Given the description of an element on the screen output the (x, y) to click on. 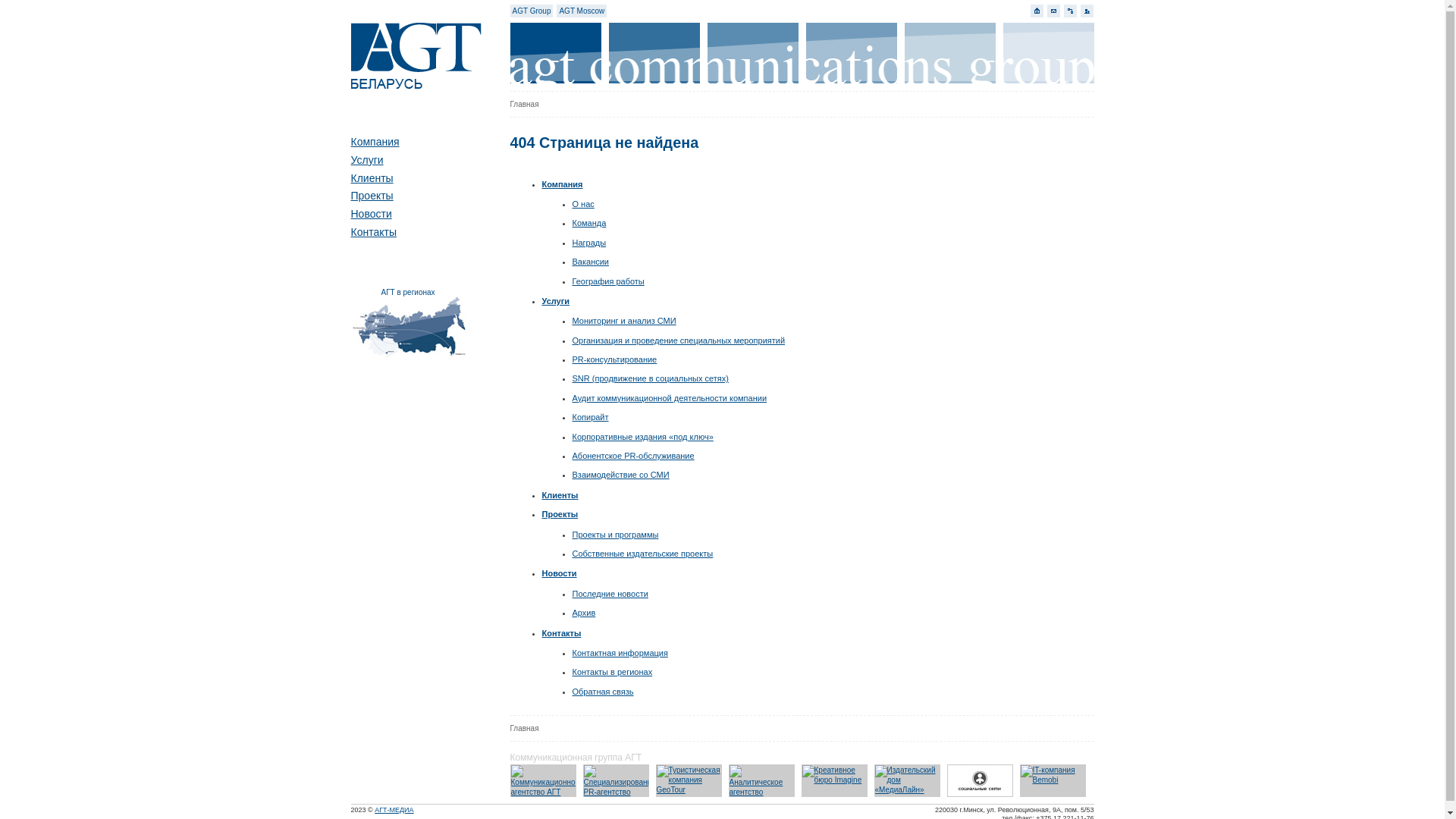
pr@agt.by Element type: text (1053, 10)
AGT Group Element type: text (531, 10)
AGT Moscow Element type: text (581, 10)
